Given the description of an element on the screen output the (x, y) to click on. 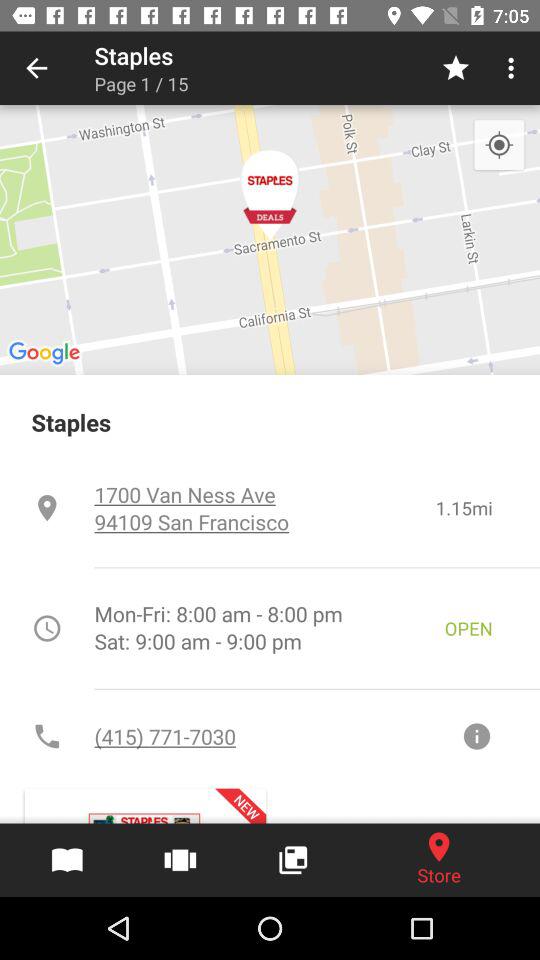
click the item next to 1.15mi icon (264, 508)
